Given the description of an element on the screen output the (x, y) to click on. 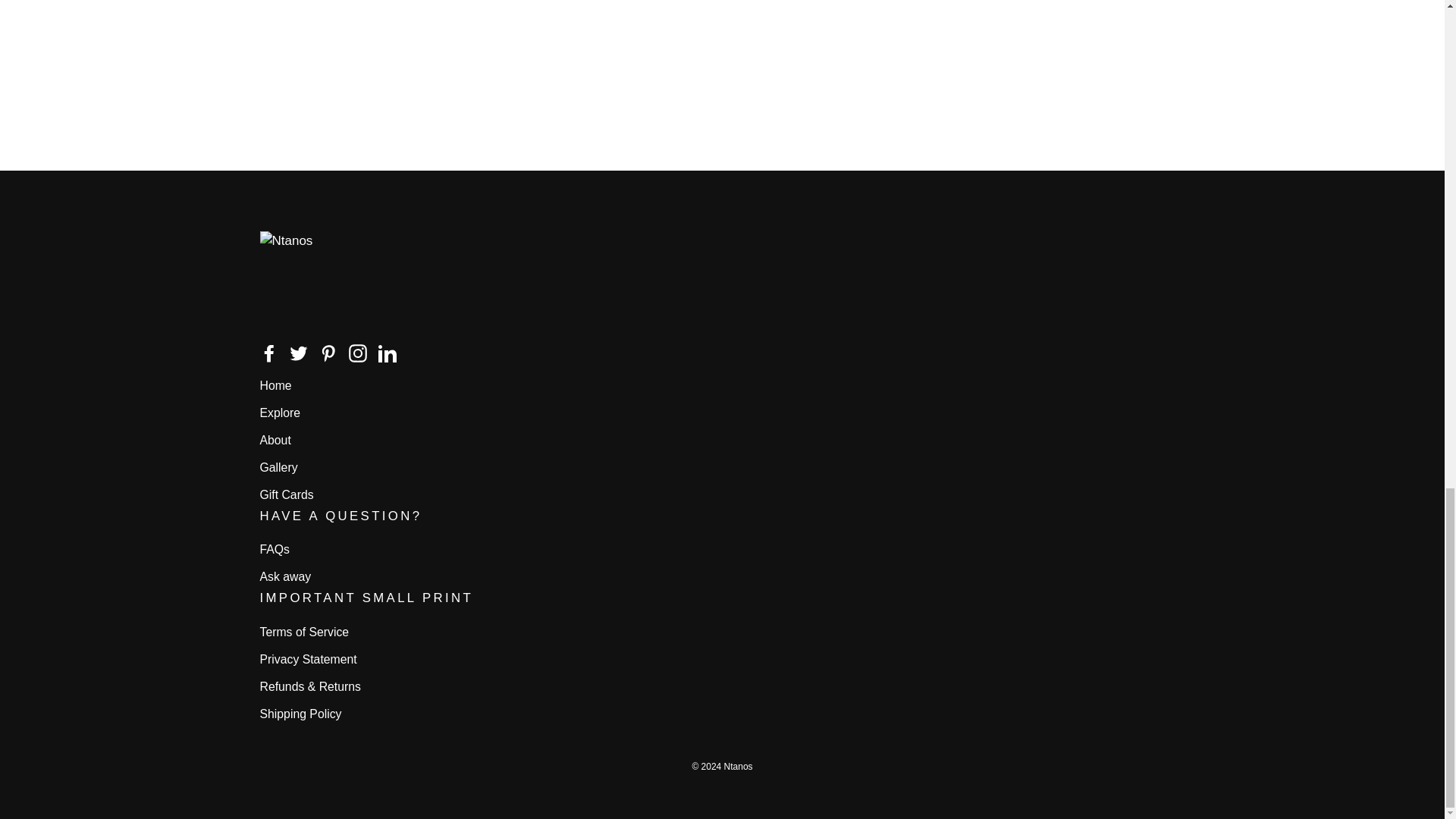
Ntanos on LinkedIn (386, 352)
Ntanos on Instagram (357, 352)
Ntanos on Twitter (298, 352)
Ntanos on Facebook (268, 352)
Ntanos on Pinterest (327, 352)
